Given the description of an element on the screen output the (x, y) to click on. 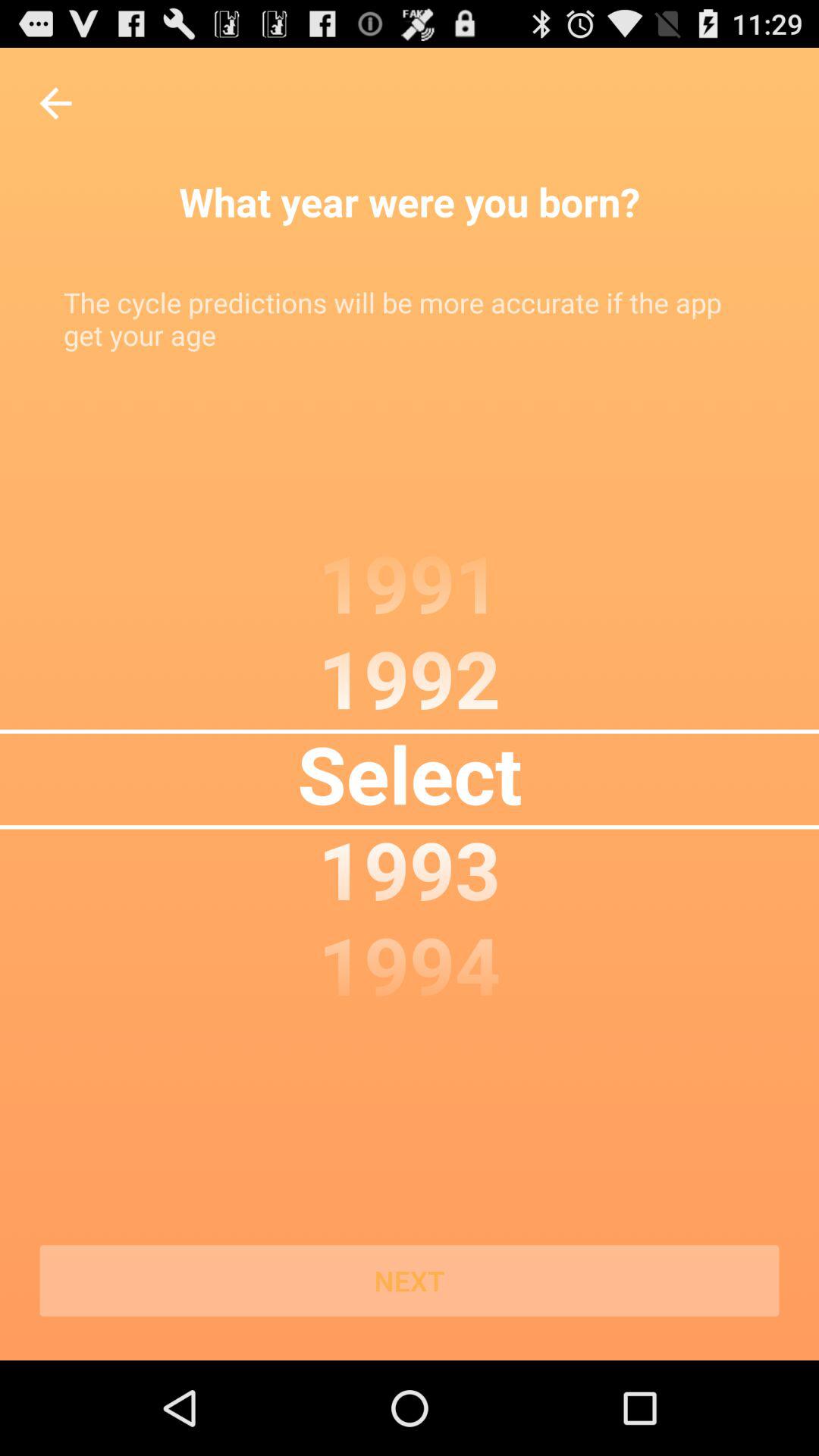
back (55, 103)
